Given the description of an element on the screen output the (x, y) to click on. 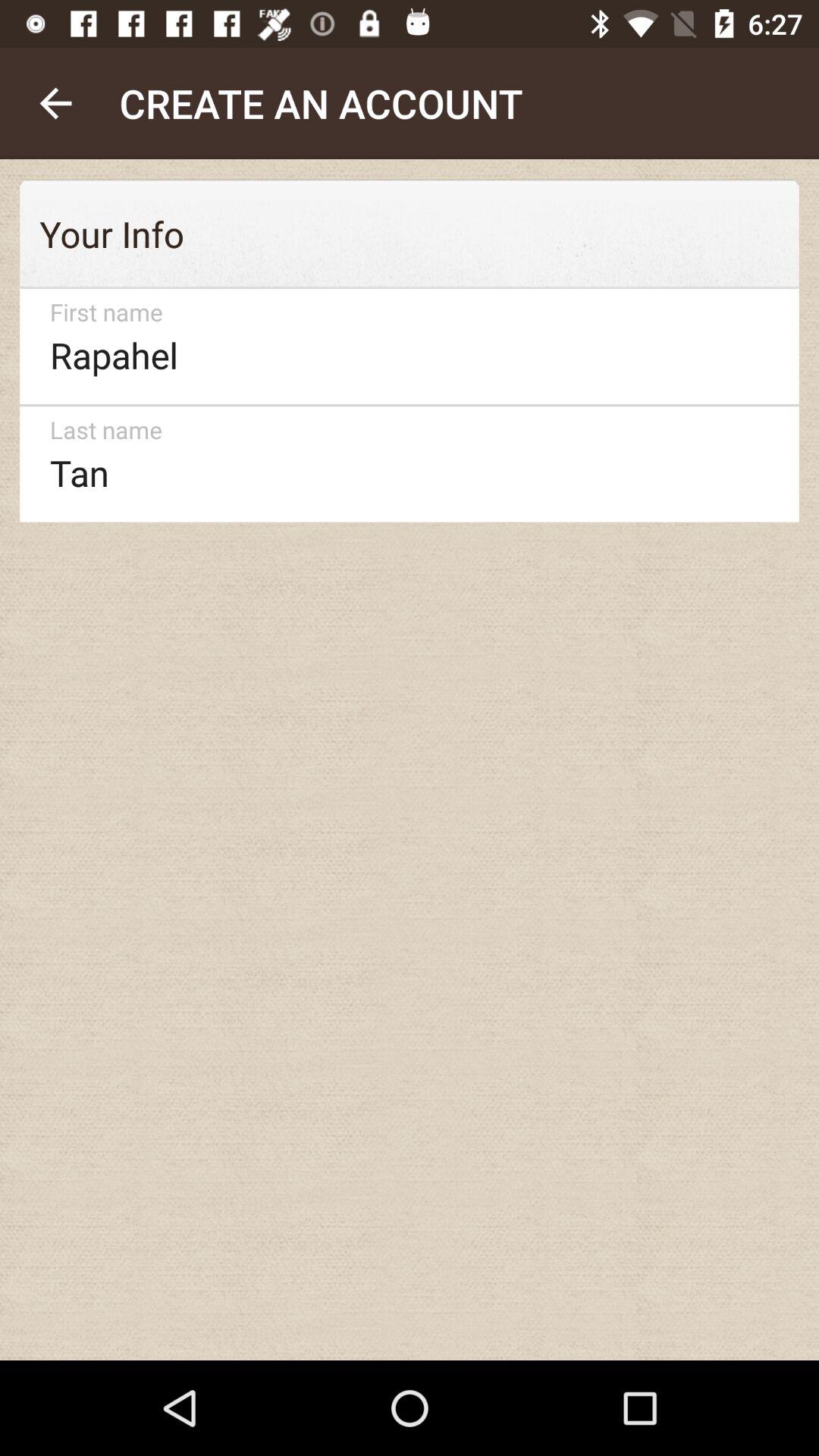
jump until the rapahel item (402, 346)
